Given the description of an element on the screen output the (x, y) to click on. 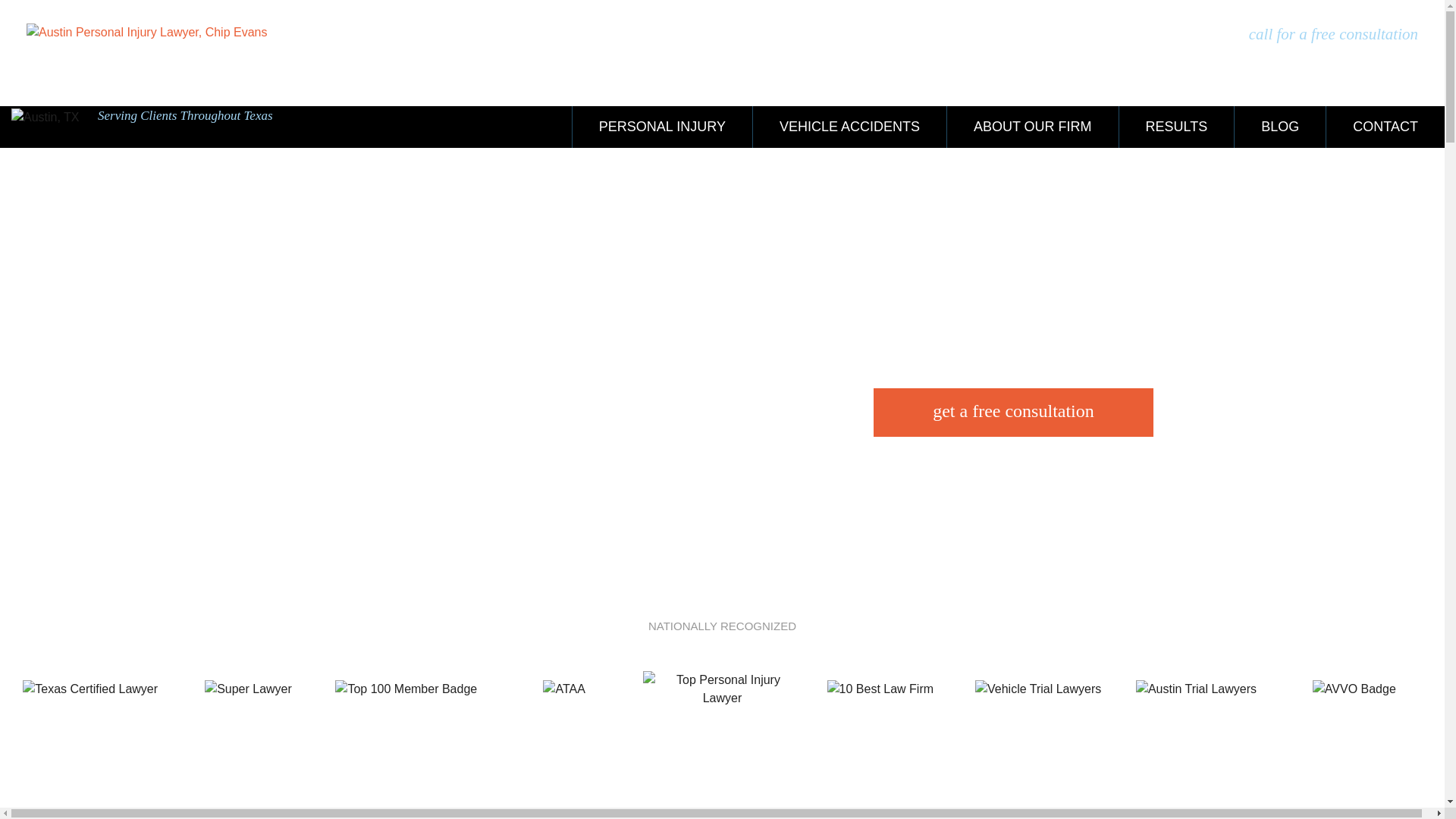
BLOG (1278, 127)
VEHICLE ACCIDENTS (849, 127)
ABOUT OUR FIRM (1032, 127)
RESULTS (1176, 127)
PERSONAL INJURY (662, 127)
get a free consultation (1013, 411)
CONTACT (1384, 127)
